Given the description of an element on the screen output the (x, y) to click on. 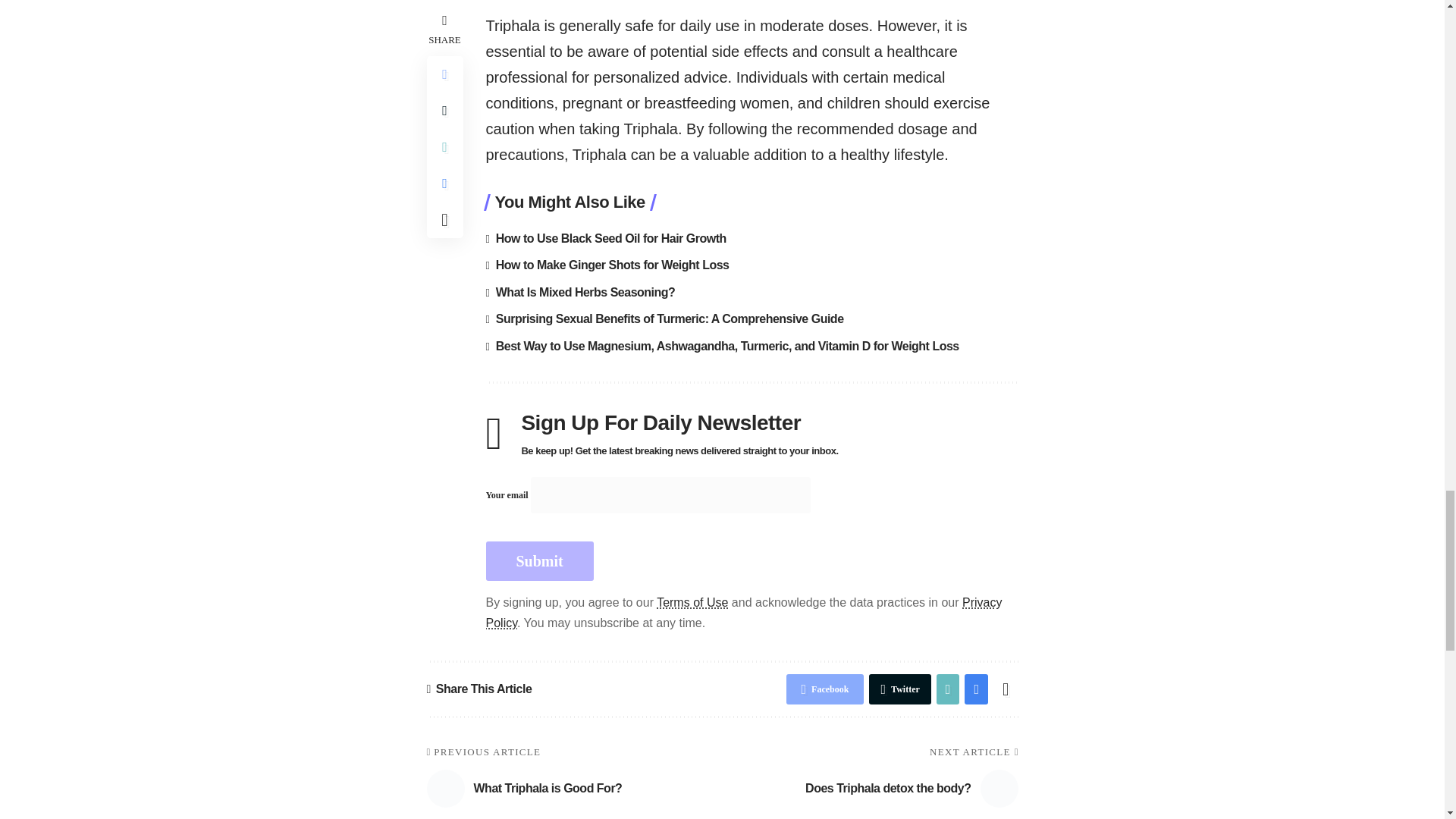
Submit (538, 560)
